Given the description of an element on the screen output the (x, y) to click on. 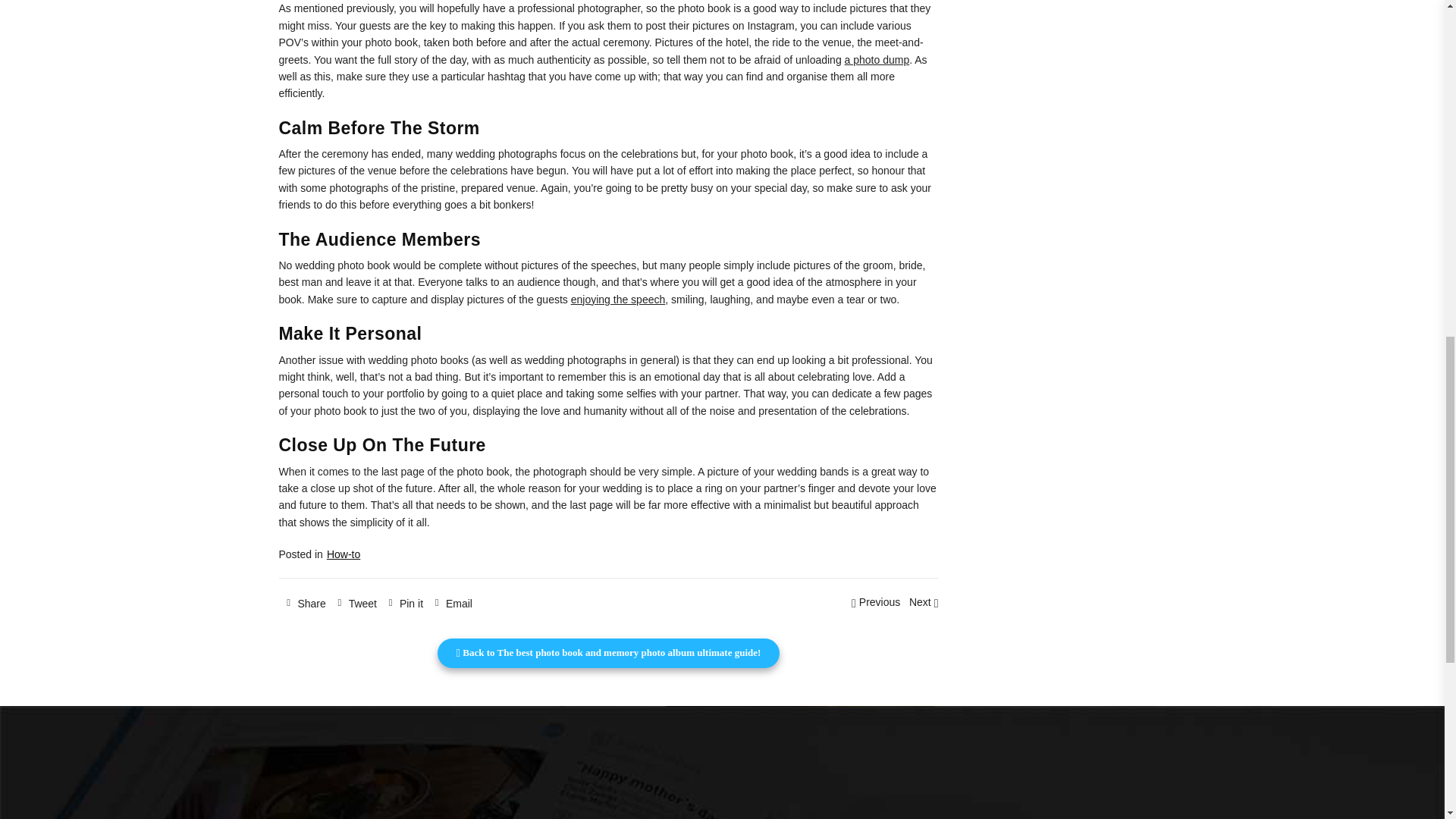
Share by Email (451, 601)
Pin on Pinterest (403, 601)
Share on Facebook (304, 601)
Tweet on Twitter (355, 601)
